Given the description of an element on the screen output the (x, y) to click on. 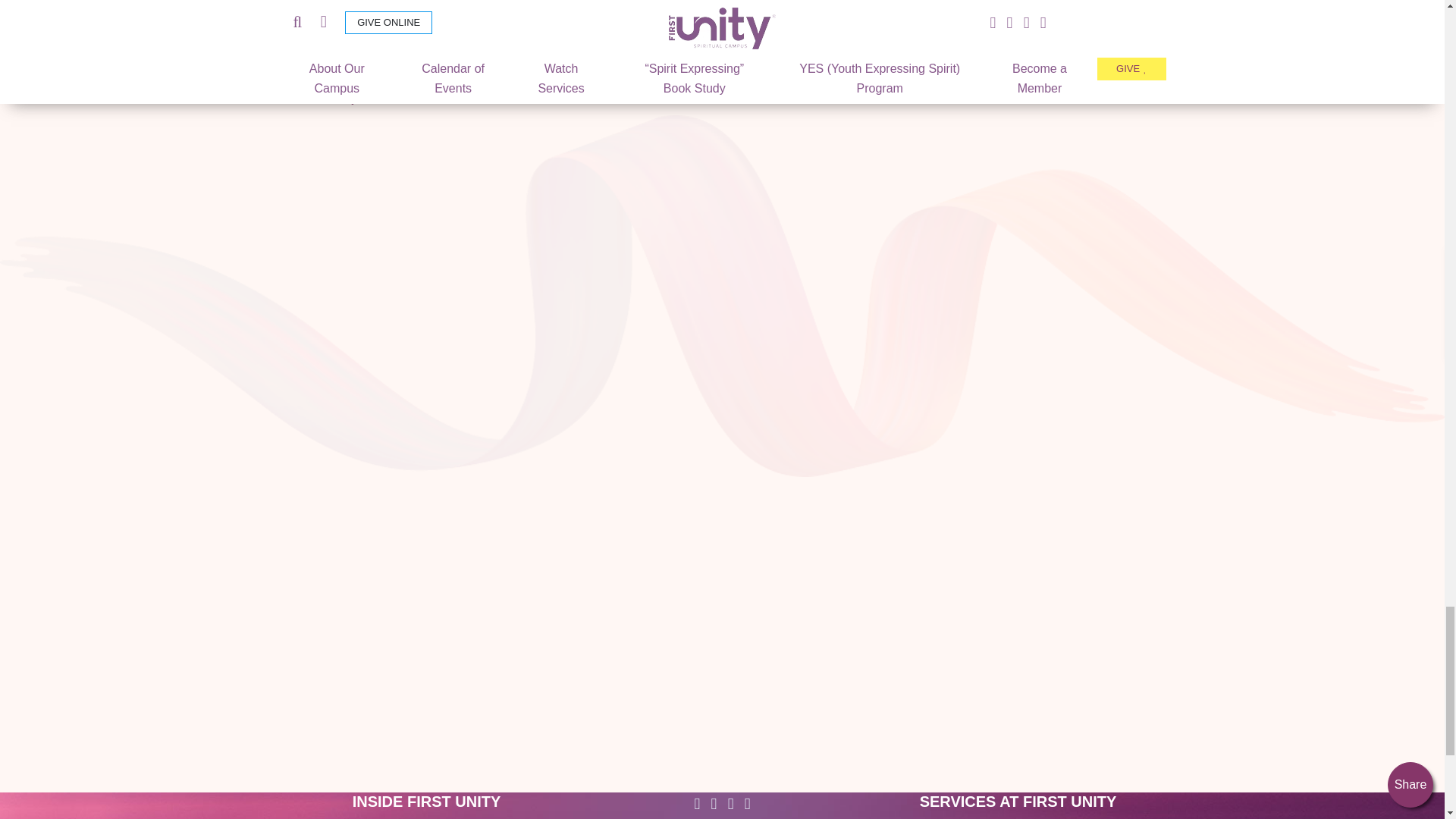
Facebook (696, 803)
YouTube (747, 803)
Google Play Store (557, 705)
Apply App Store (552, 287)
Instagram (730, 803)
Twitter (713, 803)
